Given the description of an element on the screen output the (x, y) to click on. 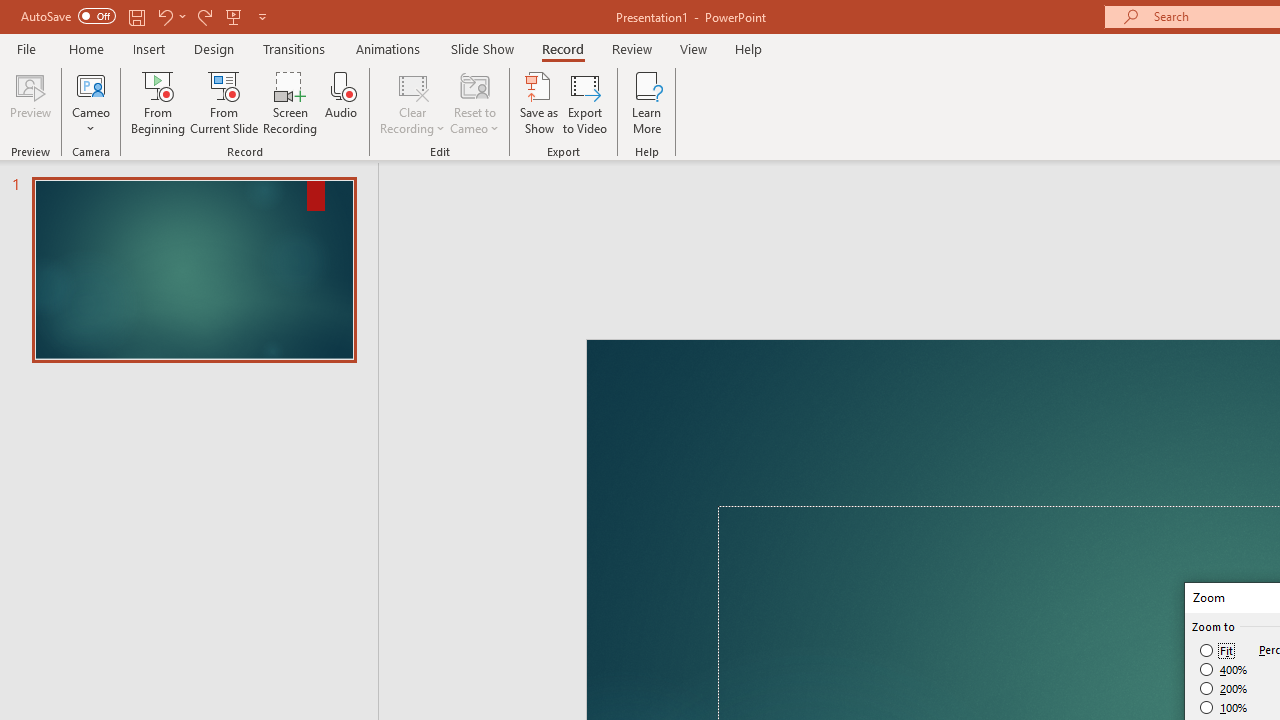
100% (1224, 707)
200% (1224, 688)
Reset to Cameo (474, 102)
